Given the description of an element on the screen output the (x, y) to click on. 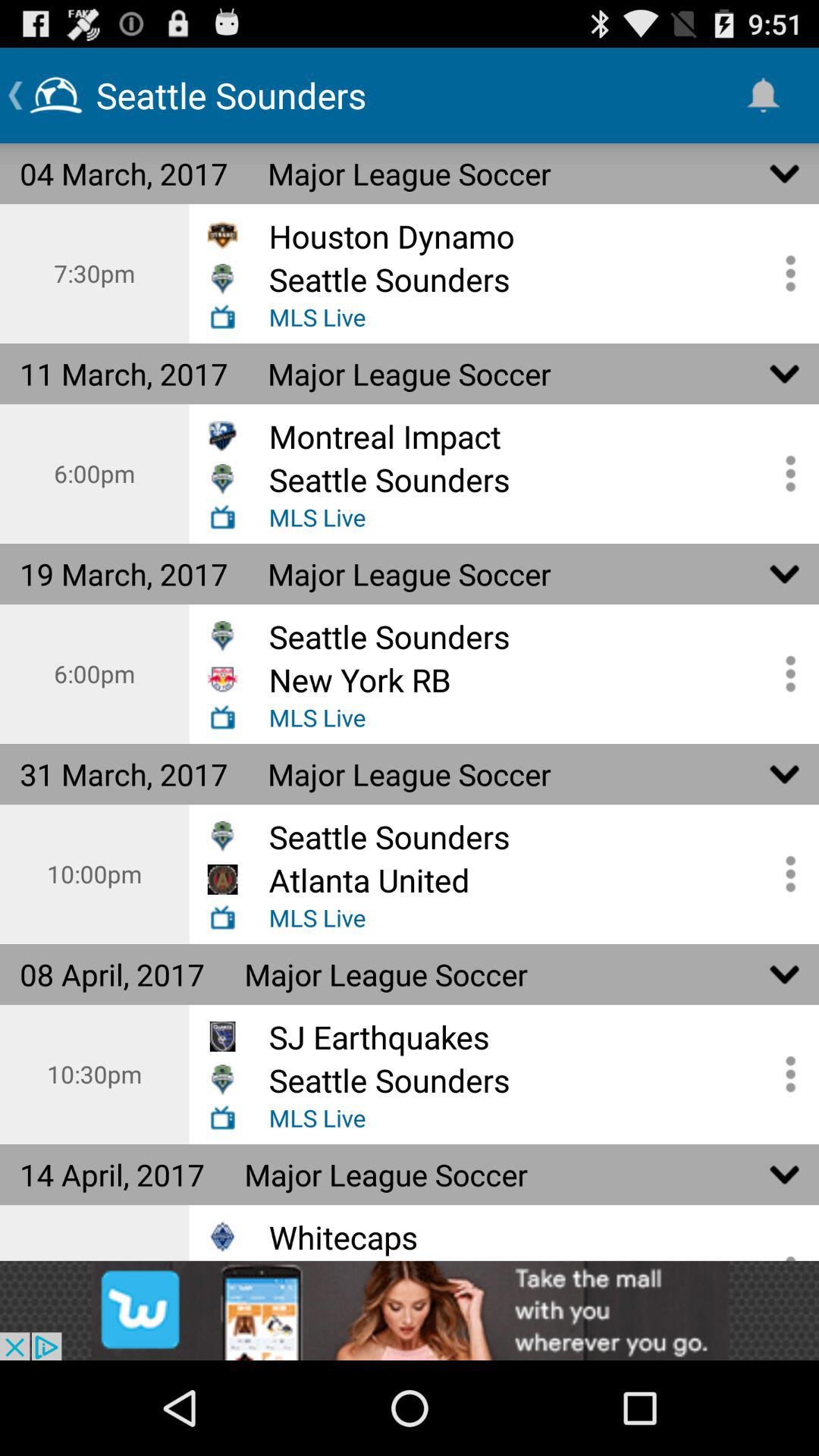
select more options (785, 874)
